Given the description of an element on the screen output the (x, y) to click on. 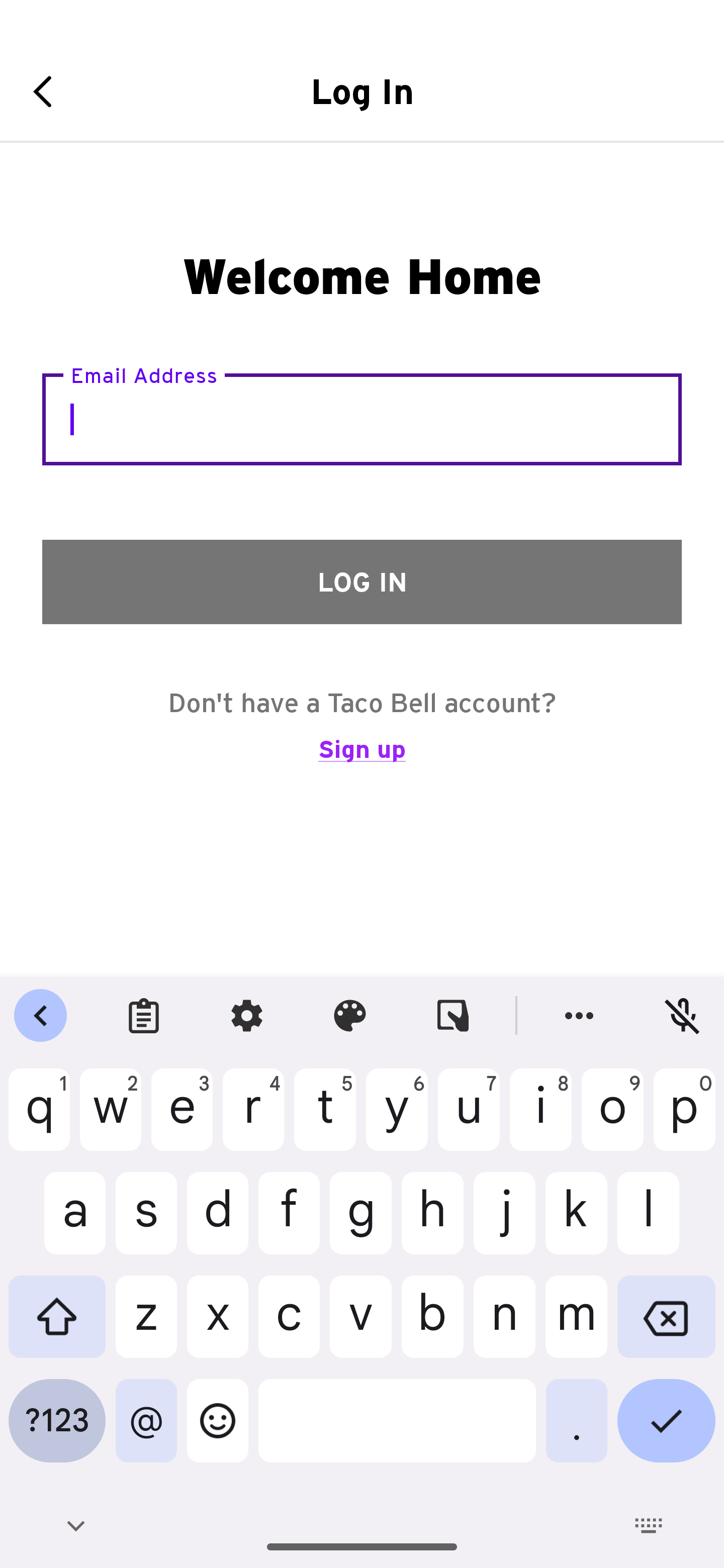
Navigate up (49, 91)
Email Address (361, 419)
LOG IN (361, 581)
Sign up (361, 757)
